Given the description of an element on the screen output the (x, y) to click on. 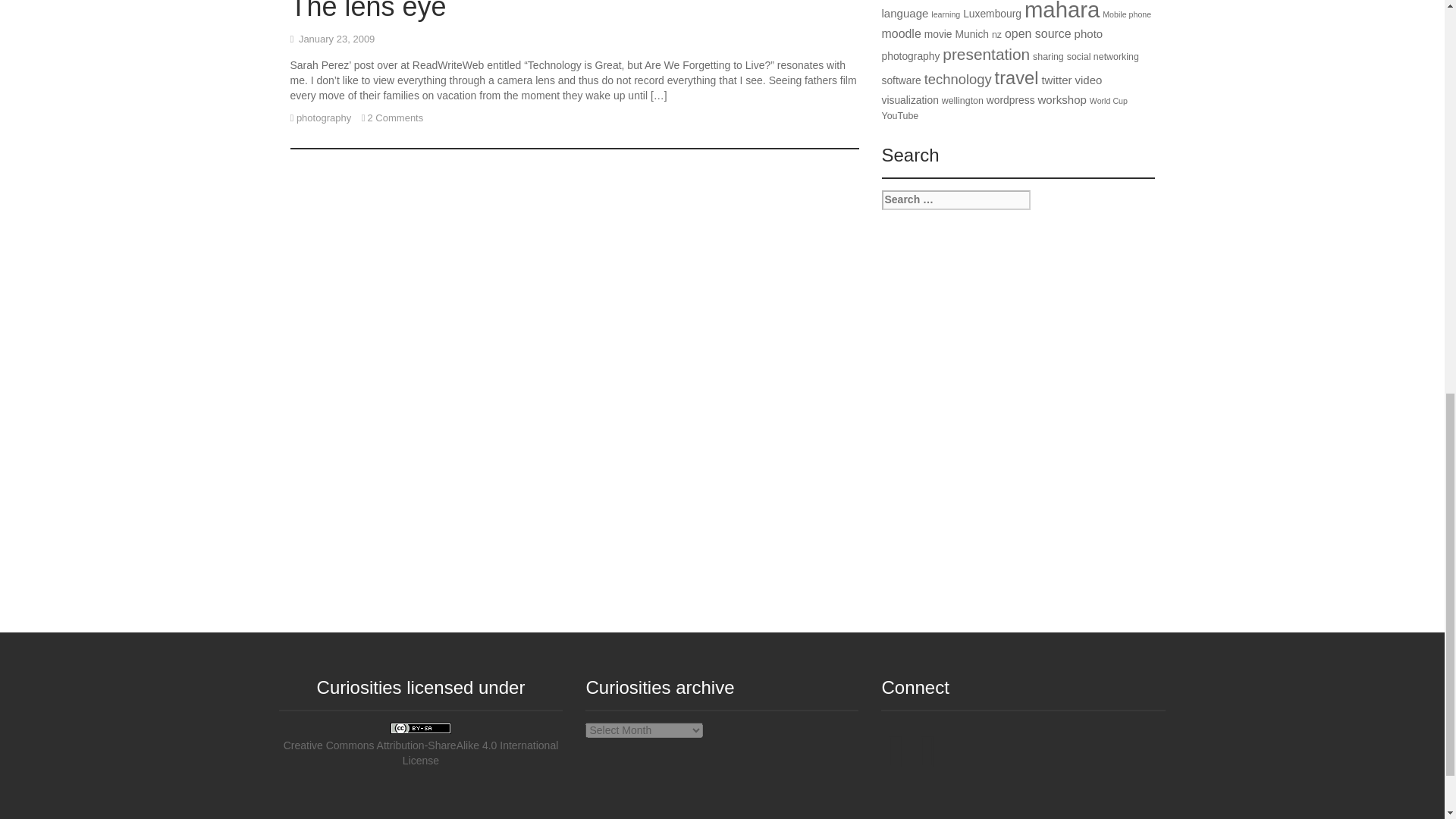
YouTube (927, 762)
January 23, 2009 (336, 39)
2 Comments (395, 117)
The lens eye (367, 11)
photography (323, 117)
Twitter (895, 762)
